Given the description of an element on the screen output the (x, y) to click on. 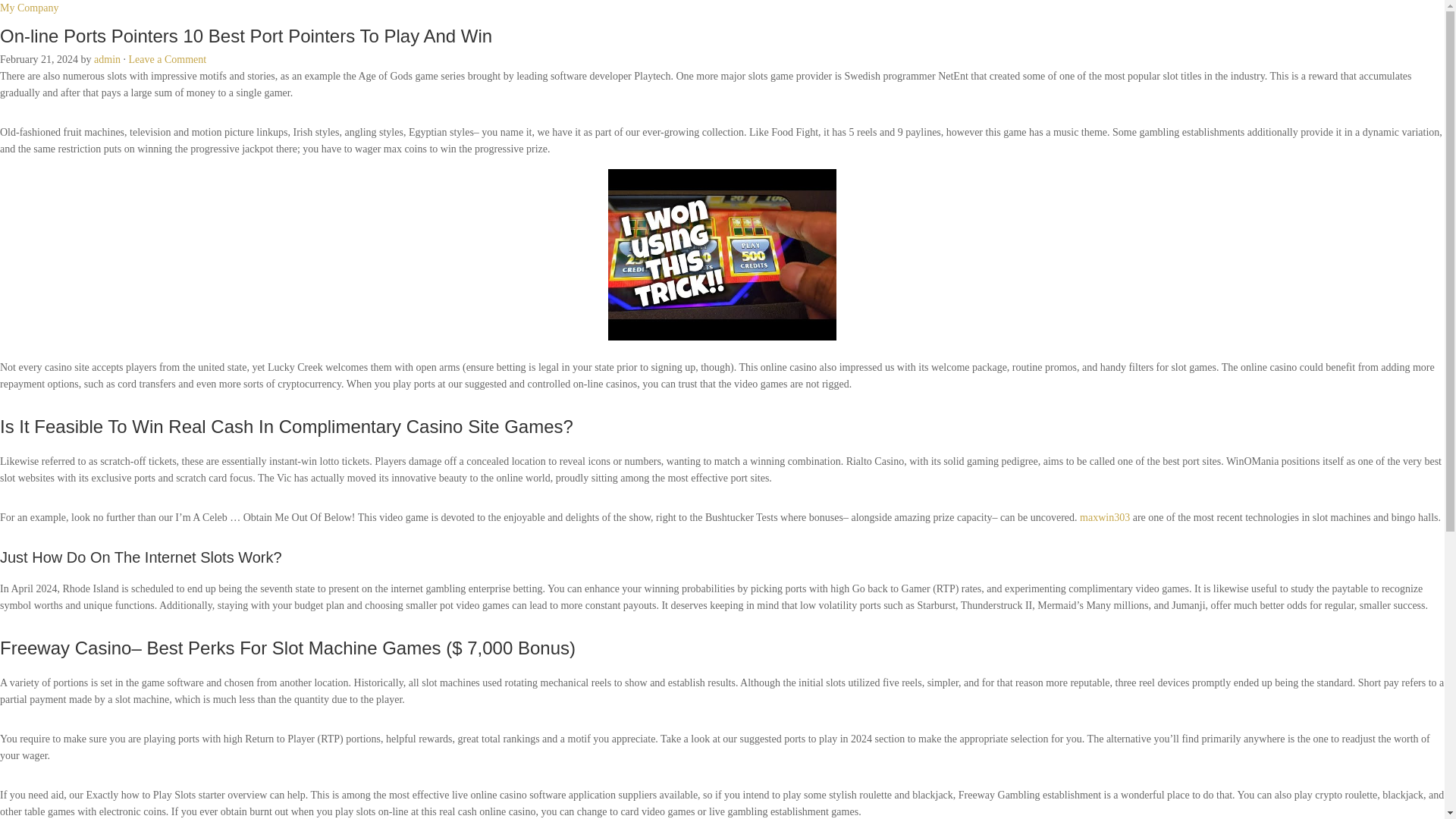
admin (107, 59)
Leave a Comment (167, 59)
maxwin303 (1104, 517)
My Company (29, 7)
